Given the description of an element on the screen output the (x, y) to click on. 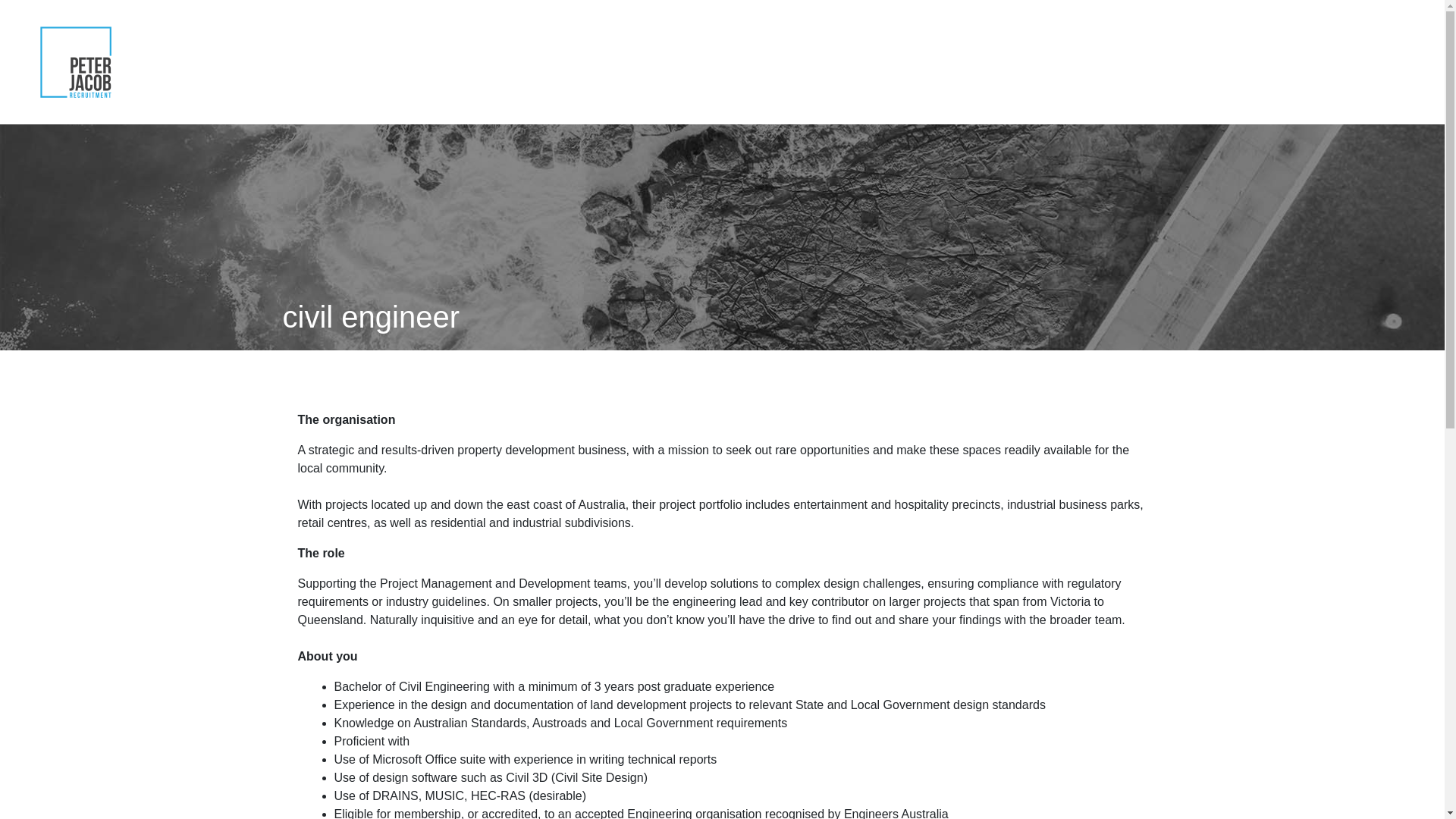
positions vacant. (1304, 62)
job seekers. (1202, 62)
contact. (1395, 62)
employers. (1115, 62)
home. (987, 62)
about. (1045, 62)
